Given the description of an element on the screen output the (x, y) to click on. 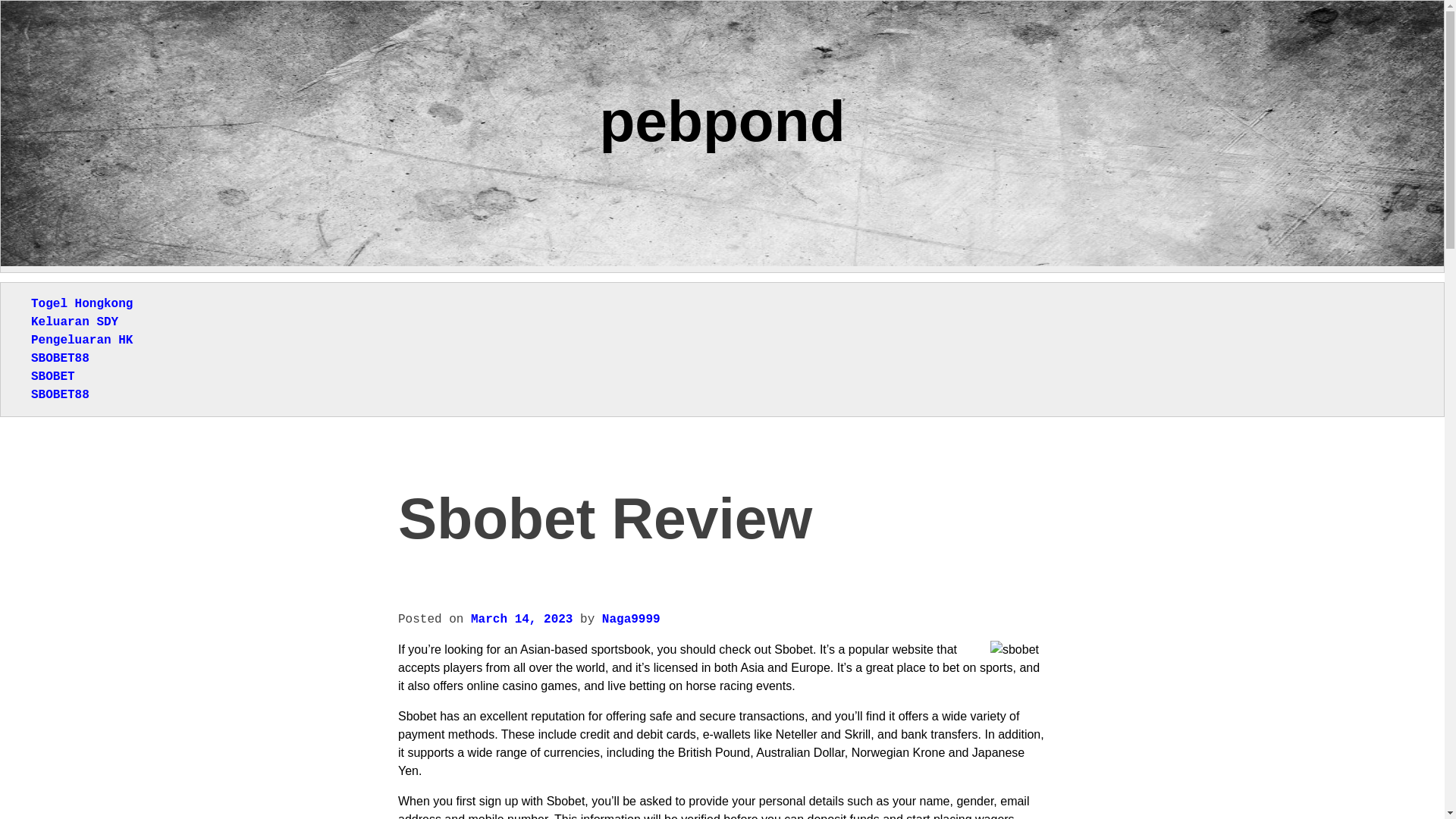
SBOBET88 (59, 395)
Keluaran SDY (73, 322)
Togel Hongkong (81, 304)
Pengeluaran HK (81, 340)
Naga9999 (631, 619)
SBOBET (52, 377)
SBOBET88 (59, 358)
March 14, 2023 (521, 619)
pebpond (721, 120)
